Given the description of an element on the screen output the (x, y) to click on. 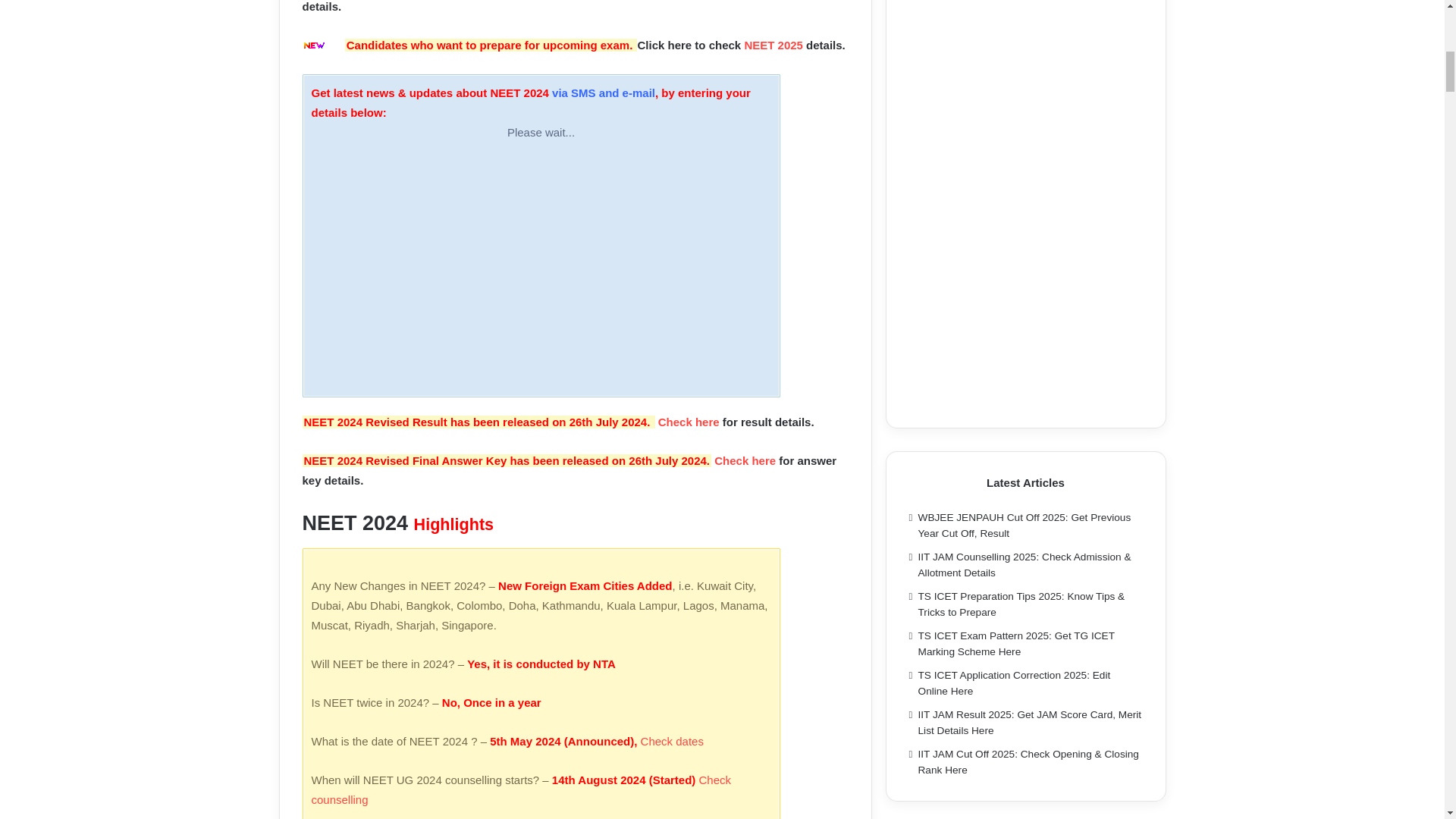
Check here (688, 421)
NEET 2025 (773, 44)
Check dates (671, 740)
Check counselling (520, 789)
Check here (745, 460)
